Given the description of an element on the screen output the (x, y) to click on. 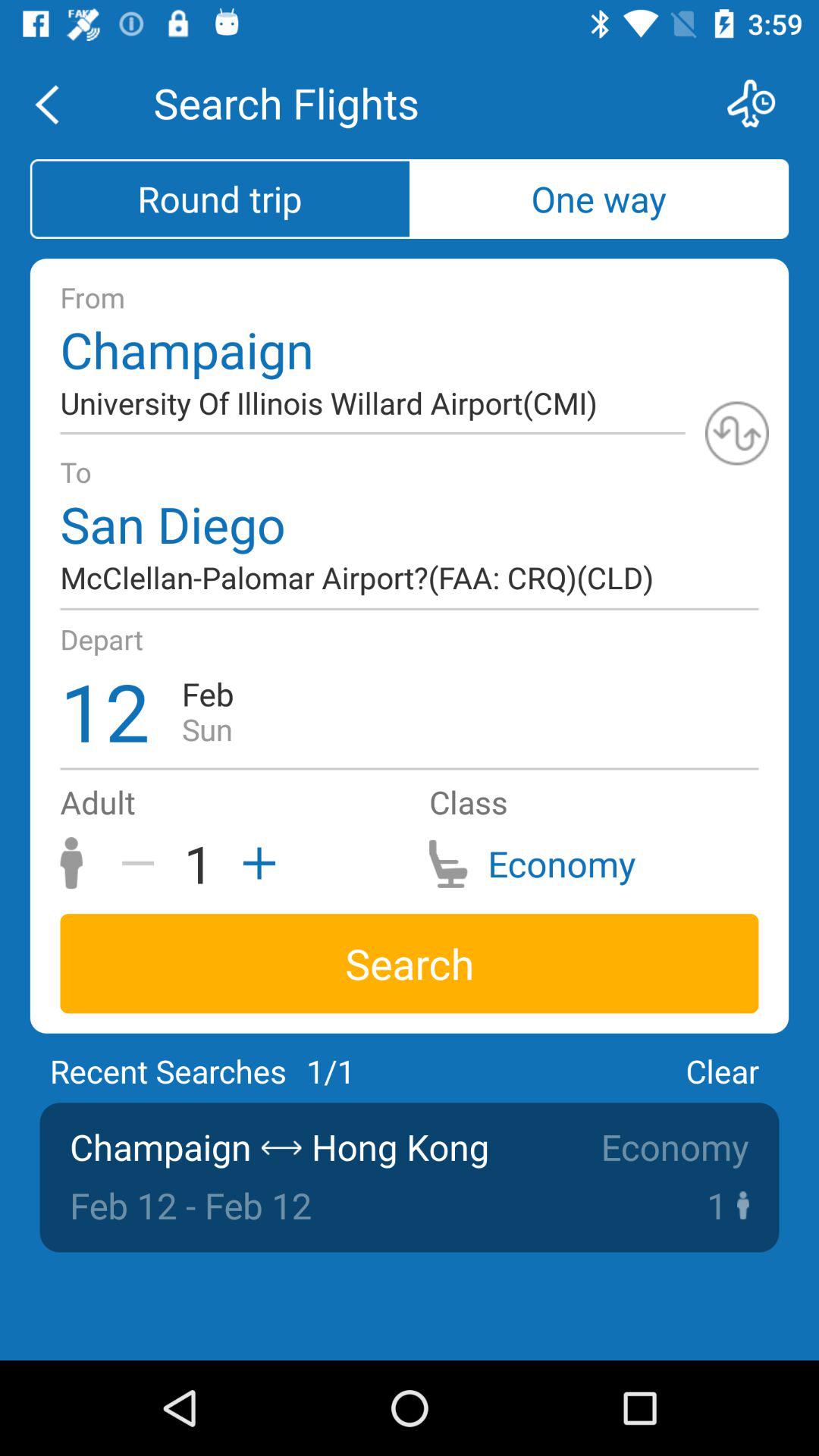
book flight (761, 102)
